Given the description of an element on the screen output the (x, y) to click on. 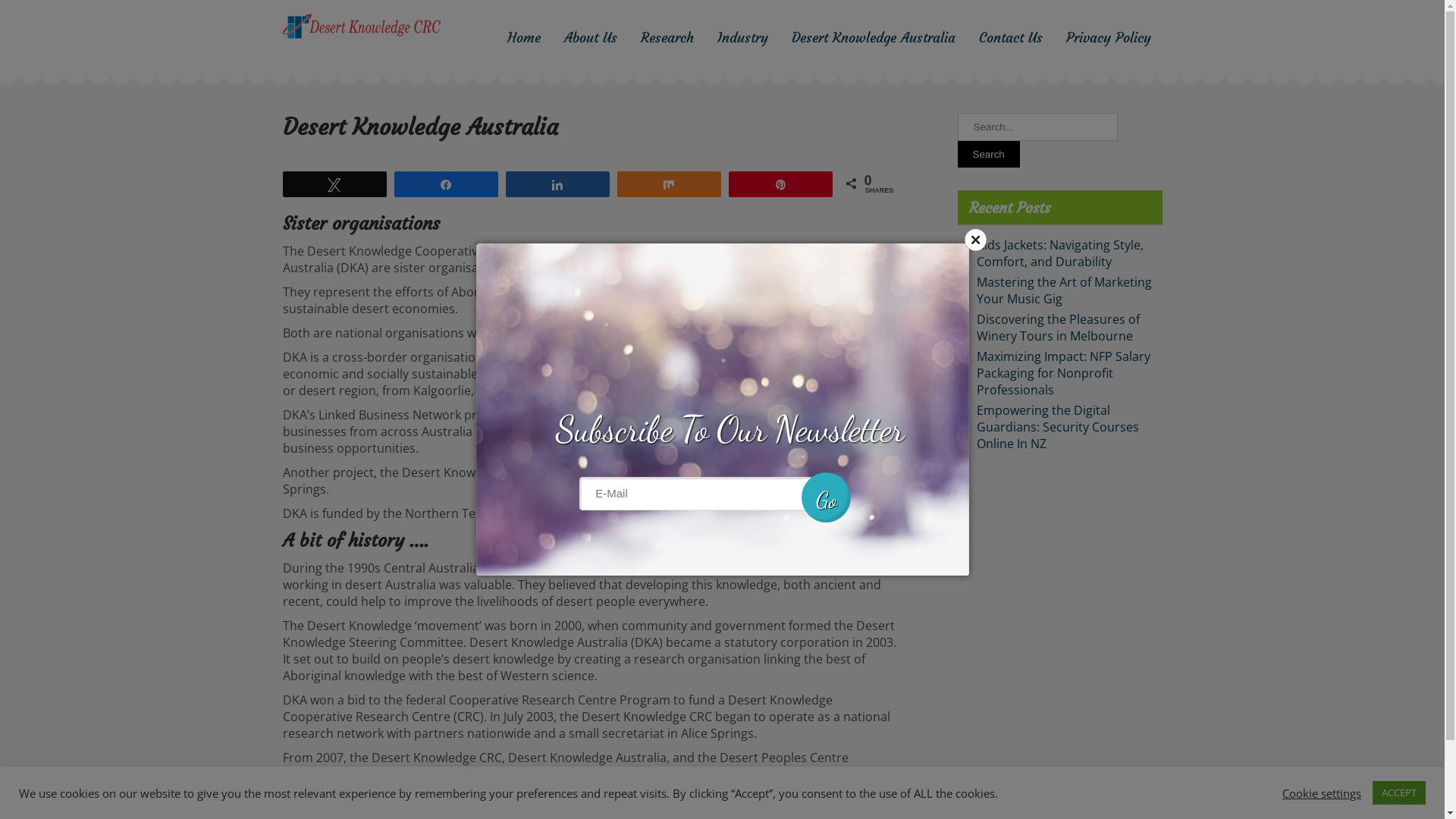
Research Element type: text (666, 37)
Privacy Policy Element type: text (1108, 37)
Industry Element type: text (742, 37)
Go Element type: text (825, 496)
Cookie settings Element type: text (1321, 792)
Mastering the Art of Marketing Your Music Gig Element type: text (1063, 290)
Desert Knowledge Australia Element type: text (873, 37)
Search Element type: text (988, 154)
Contact Us Element type: text (1009, 37)
Kids Jackets: Navigating Style, Comfort, and Durability Element type: text (1059, 252)
Discovering the Pleasures of Winery Tours in Melbourne Element type: text (1057, 327)
About Us Element type: text (590, 37)
Home Element type: text (522, 37)
ACCEPT Element type: text (1398, 792)
Desert Knowledge CRC Element type: text (430, 61)
